Given the description of an element on the screen output the (x, y) to click on. 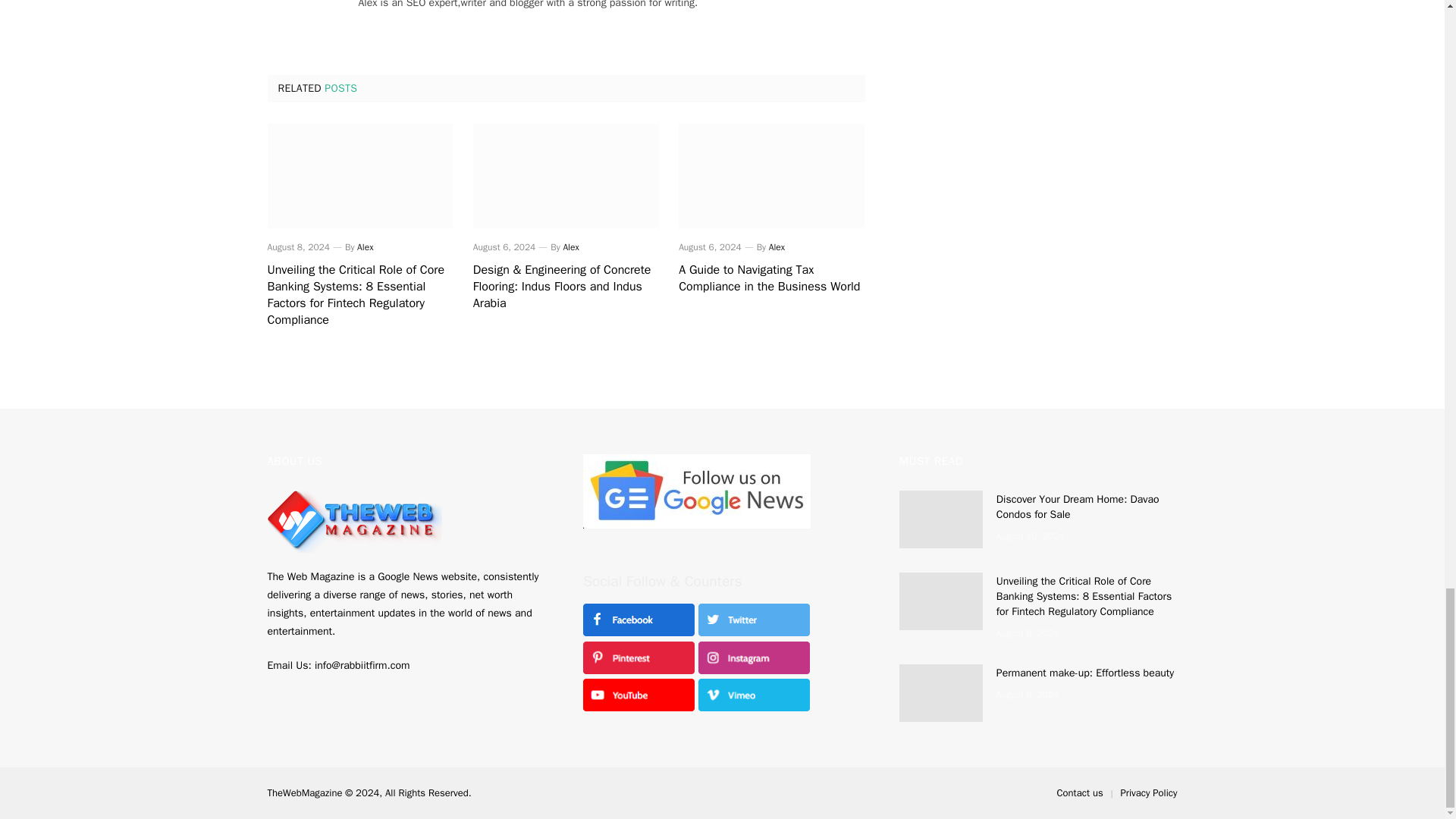
Alex (570, 246)
Alex (776, 246)
Posts by Alex (570, 246)
A Guide to Navigating Tax Compliance in the Business World (771, 278)
Posts by Alex (364, 246)
Alex (364, 246)
